Given the description of an element on the screen output the (x, y) to click on. 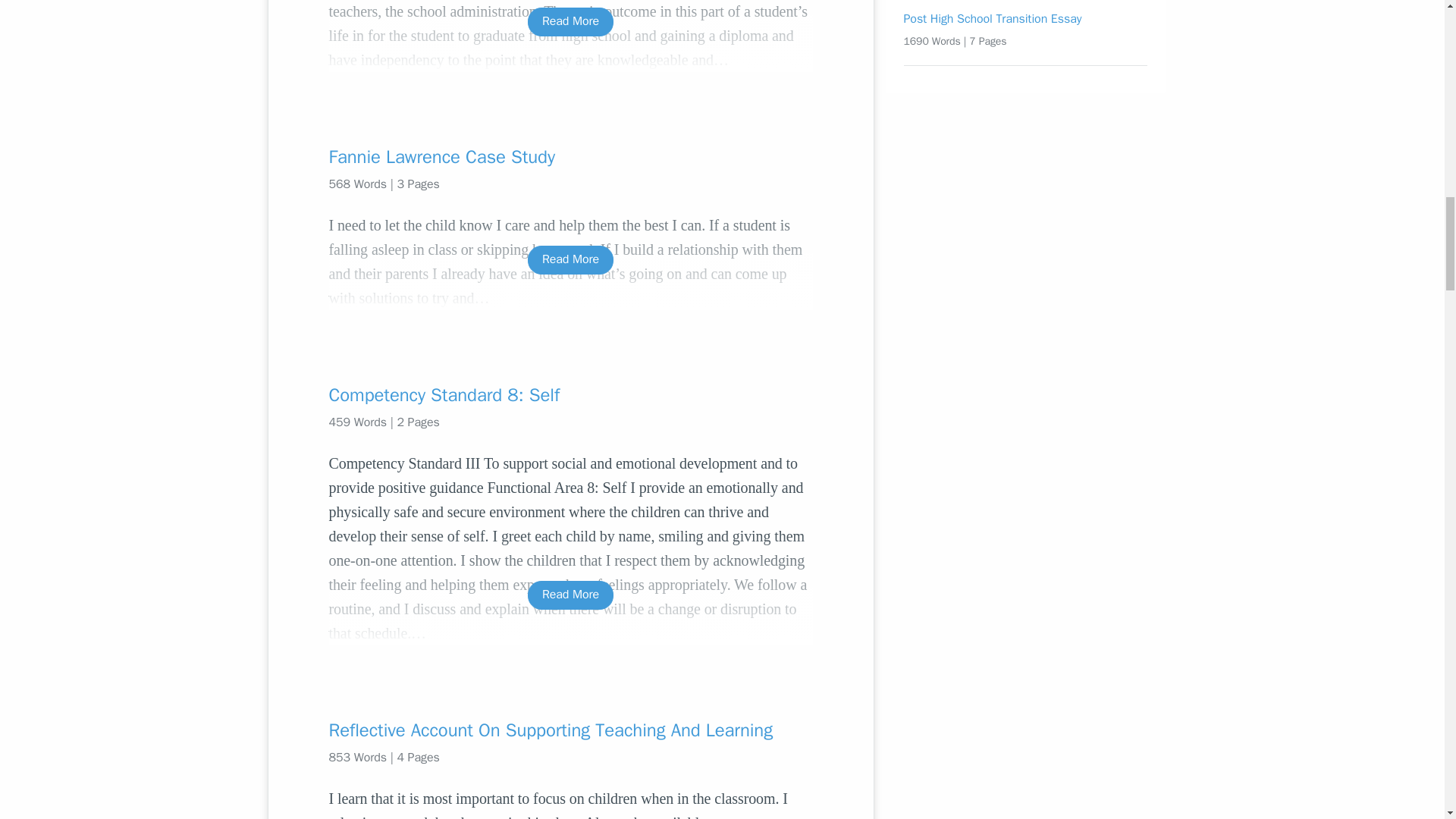
Read More (569, 259)
Reflective Account On Supporting Teaching And Learning (570, 730)
Competency Standard 8: Self (570, 395)
Fannie Lawrence Case Study (570, 156)
Read More (569, 21)
Read More (569, 594)
